Given the description of an element on the screen output the (x, y) to click on. 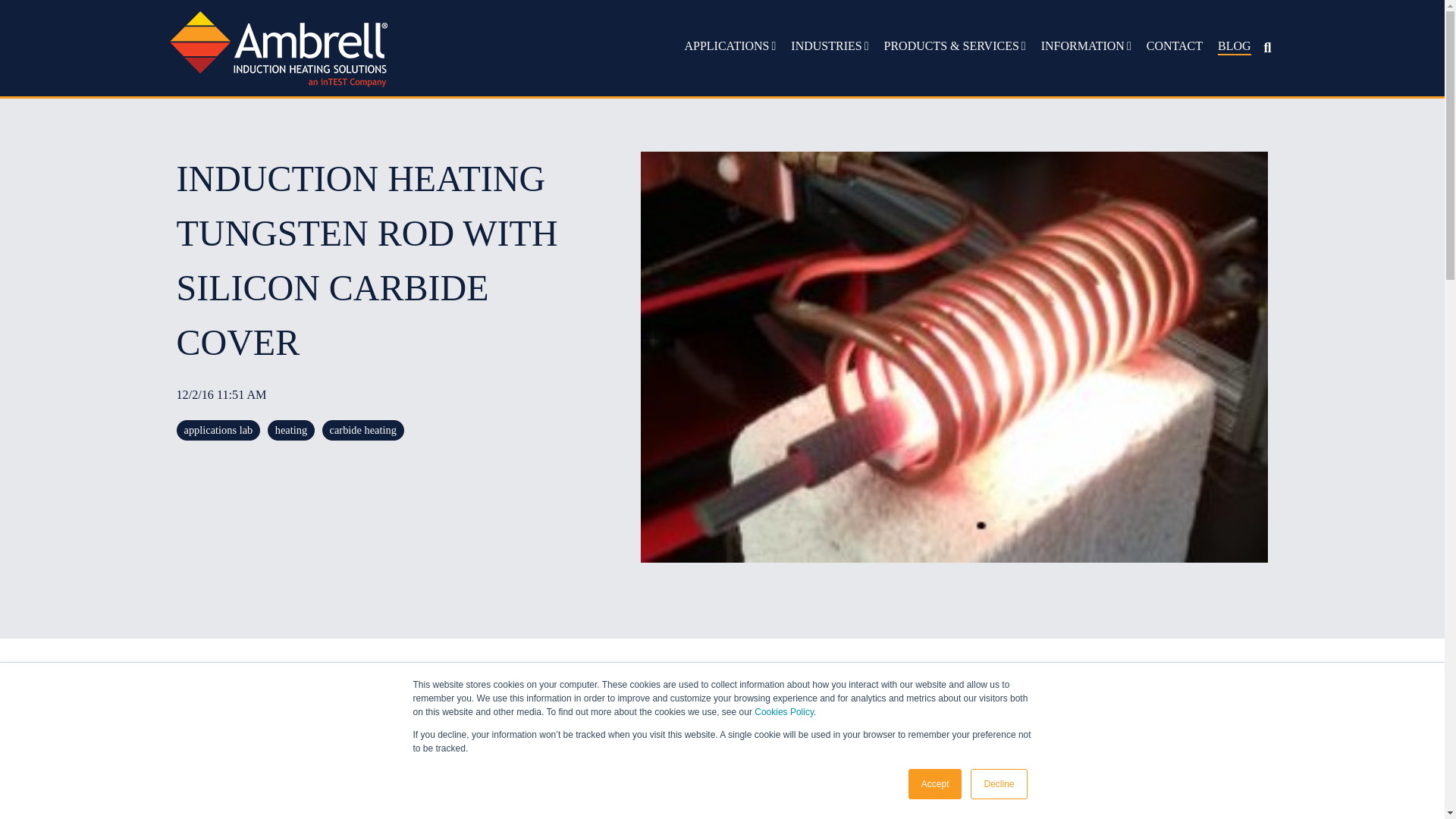
Accept (935, 784)
Cookies Policy (783, 711)
Decline (998, 784)
APPLICATIONS (730, 46)
